Given the description of an element on the screen output the (x, y) to click on. 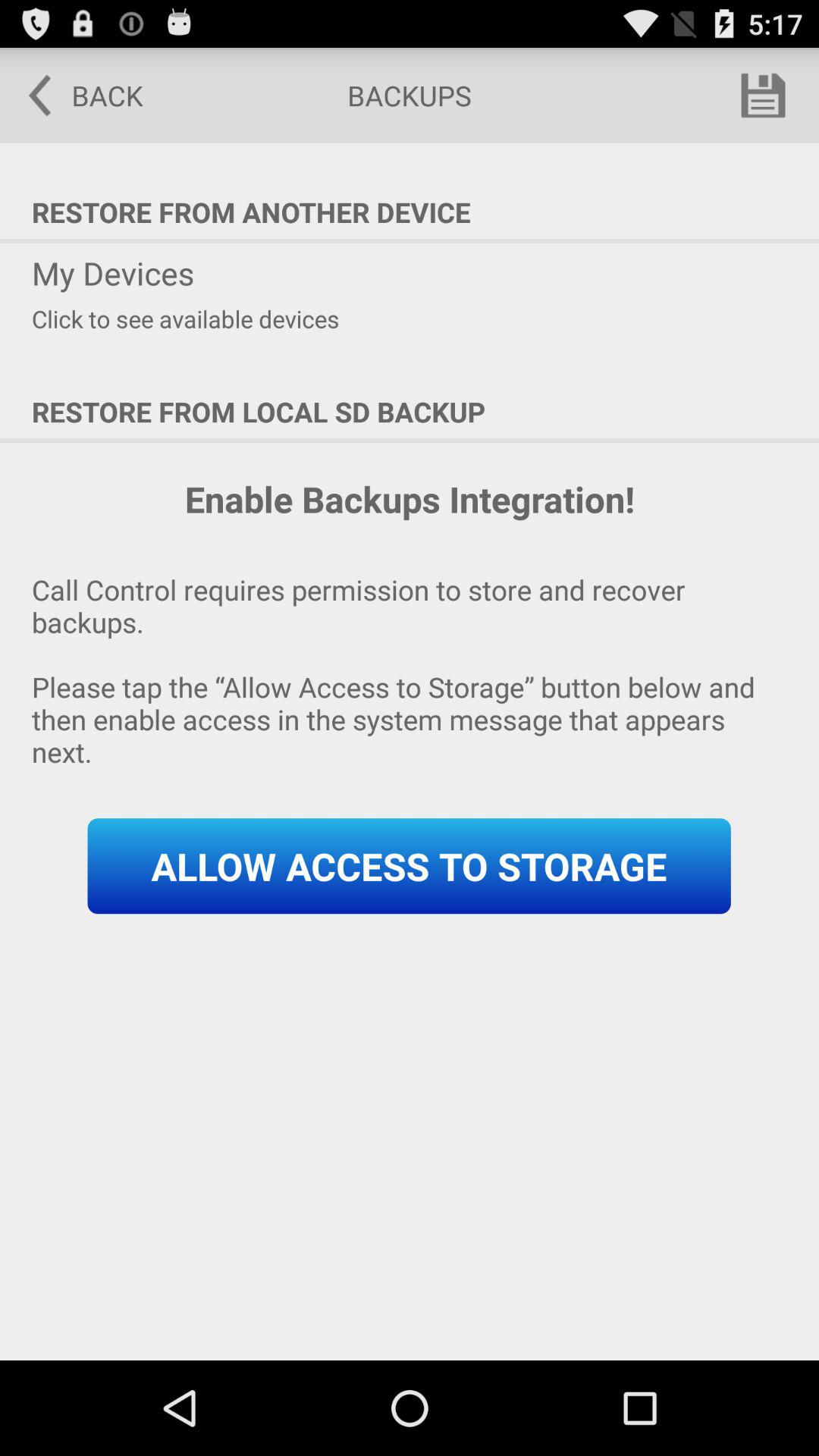
launch item next to backups item (763, 95)
